Given the description of an element on the screen output the (x, y) to click on. 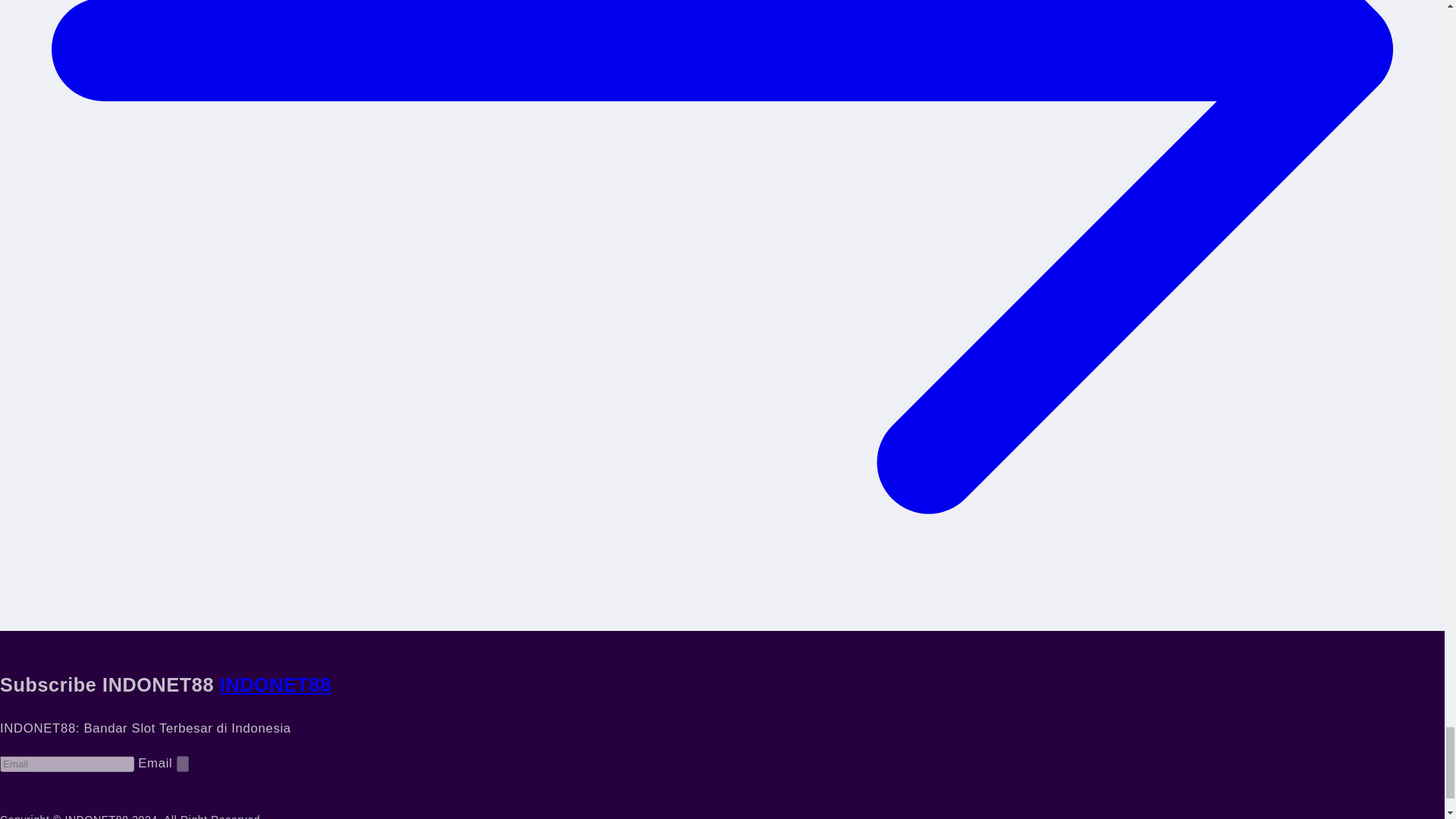
INDONET88 (275, 684)
